Given the description of an element on the screen output the (x, y) to click on. 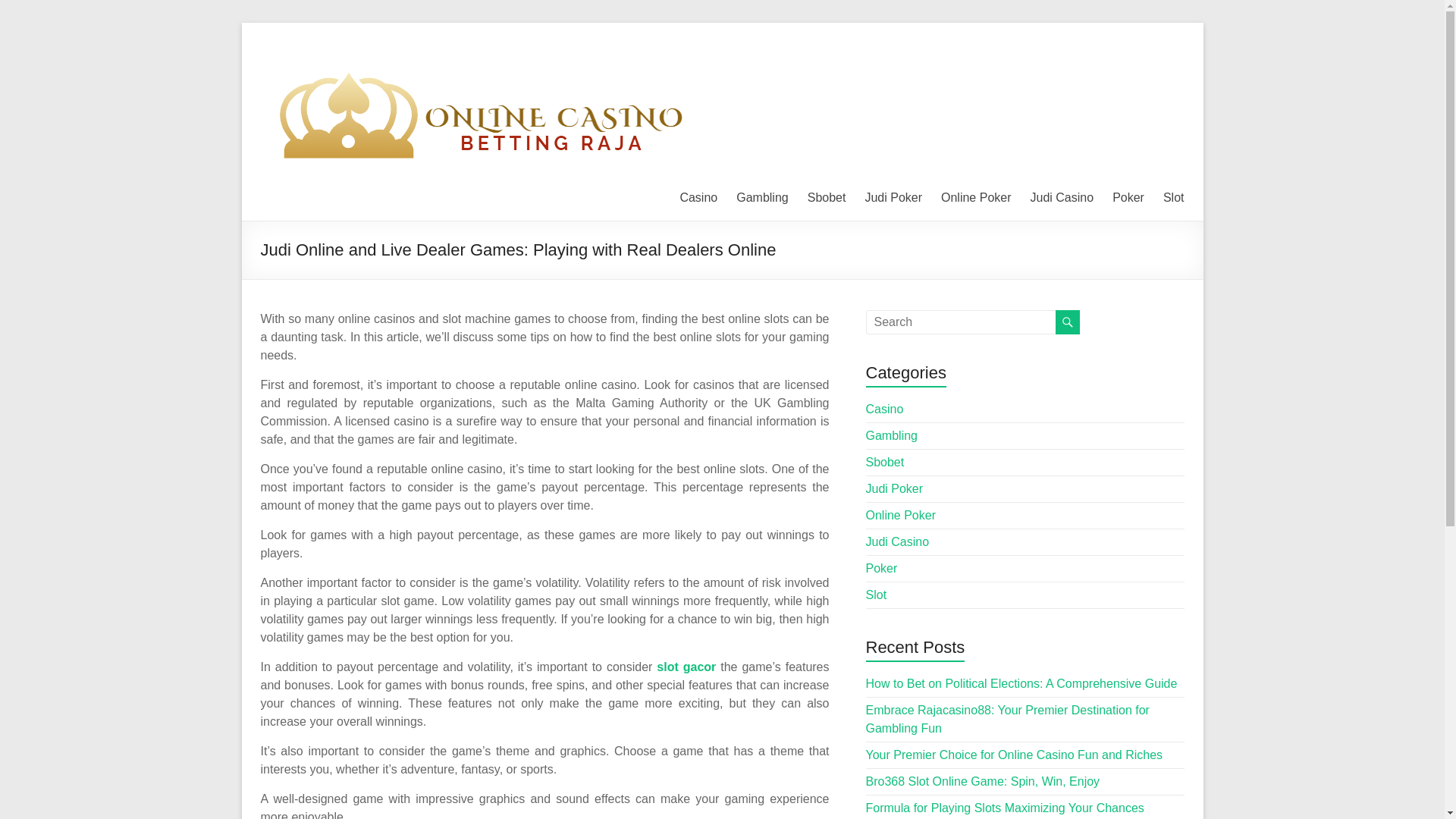
Judi Poker (894, 488)
Slot (1174, 197)
Online Poker (975, 197)
Formula for Playing Slots Maximizing Your Chances (1005, 807)
Online Poker (901, 514)
Sbobet (826, 197)
Online Casino (301, 68)
Casino (698, 197)
Bro368 Slot Online Game: Spin, Win, Enjoy (983, 780)
